Given the description of an element on the screen output the (x, y) to click on. 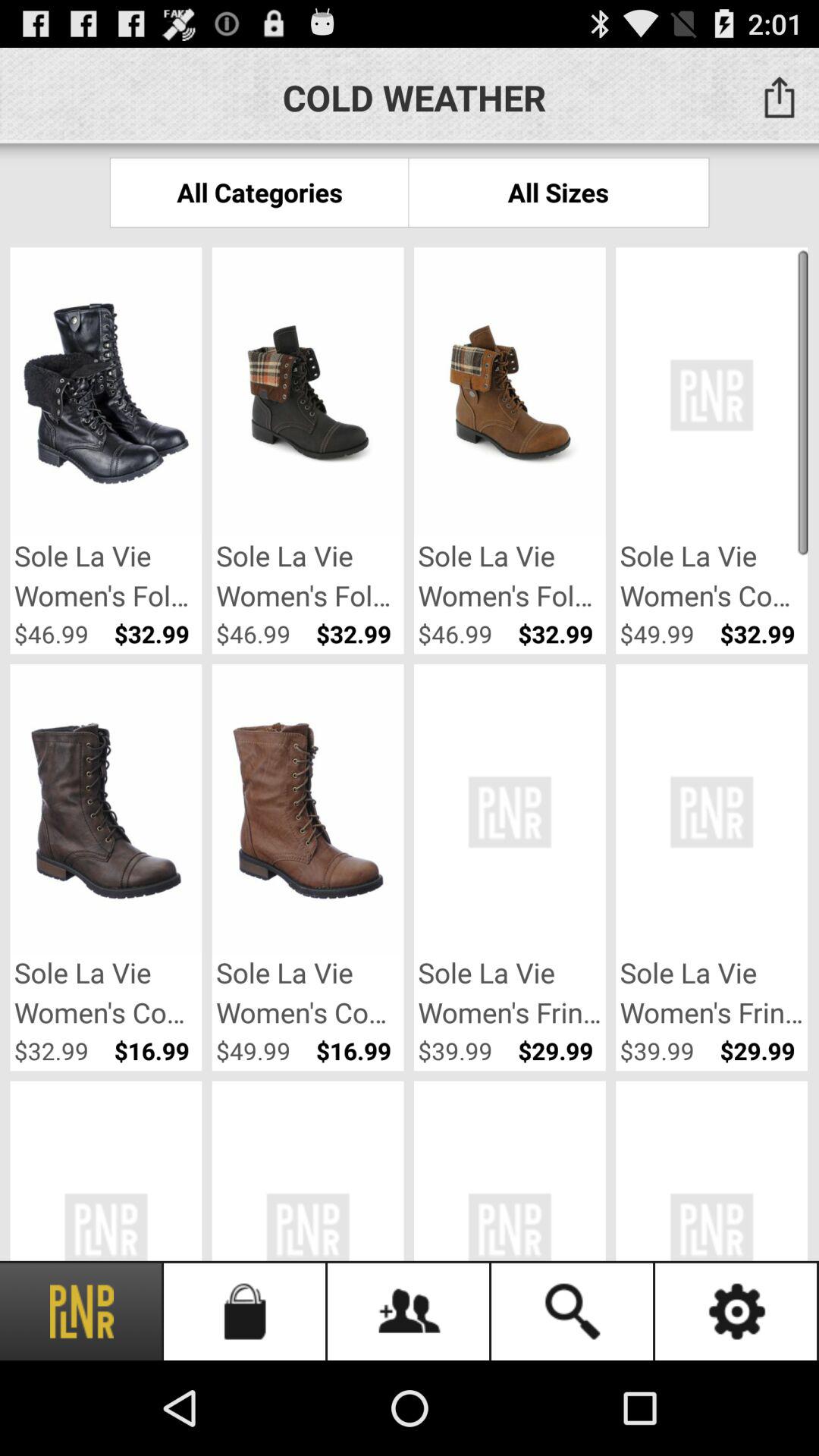
swipe until the all categories item (259, 192)
